Given the description of an element on the screen output the (x, y) to click on. 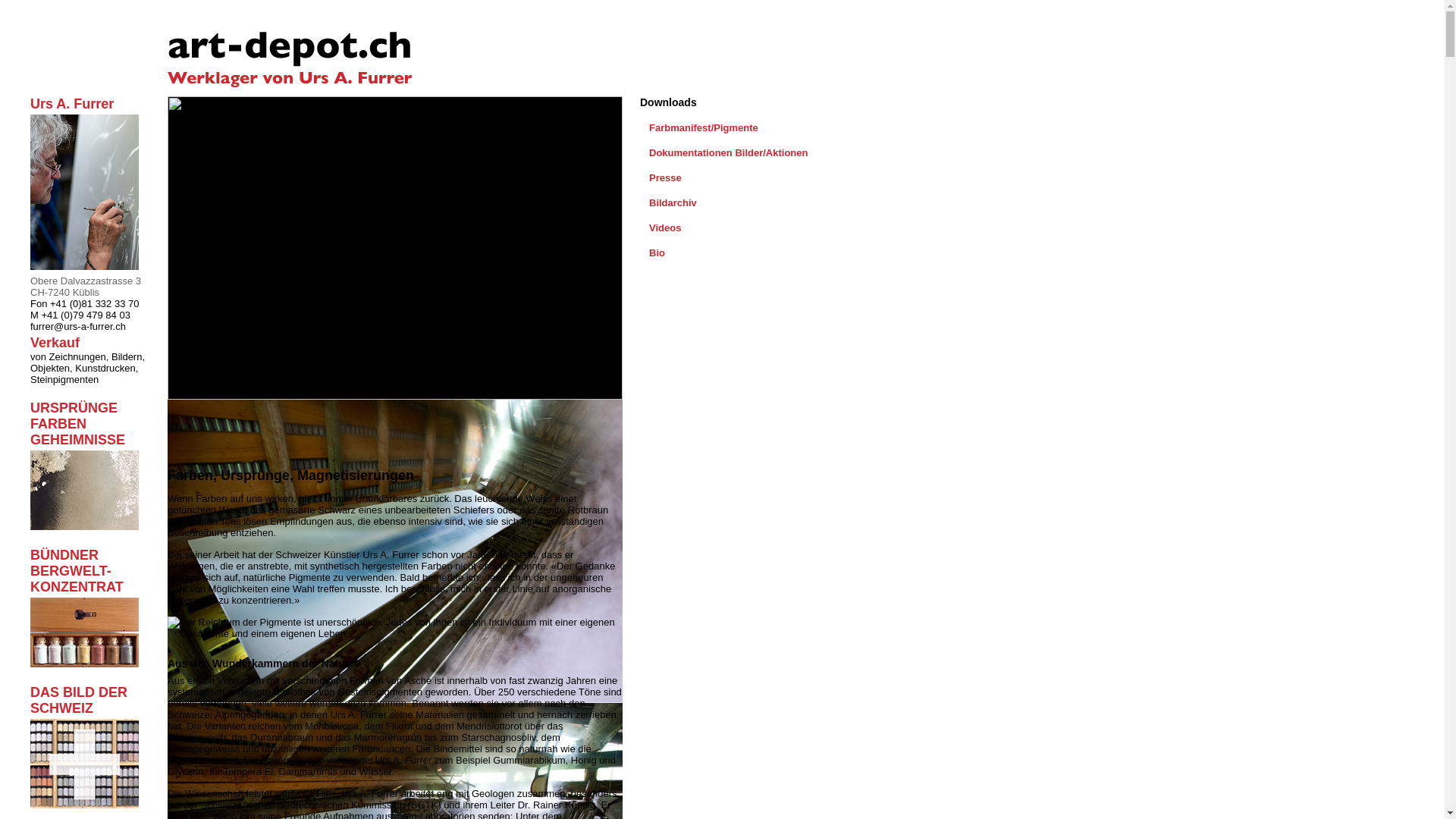
Urs A. Furrer Element type: text (84, 185)
DAS BILD DER
SCHWEIZ Element type: text (84, 748)
